Given the description of an element on the screen output the (x, y) to click on. 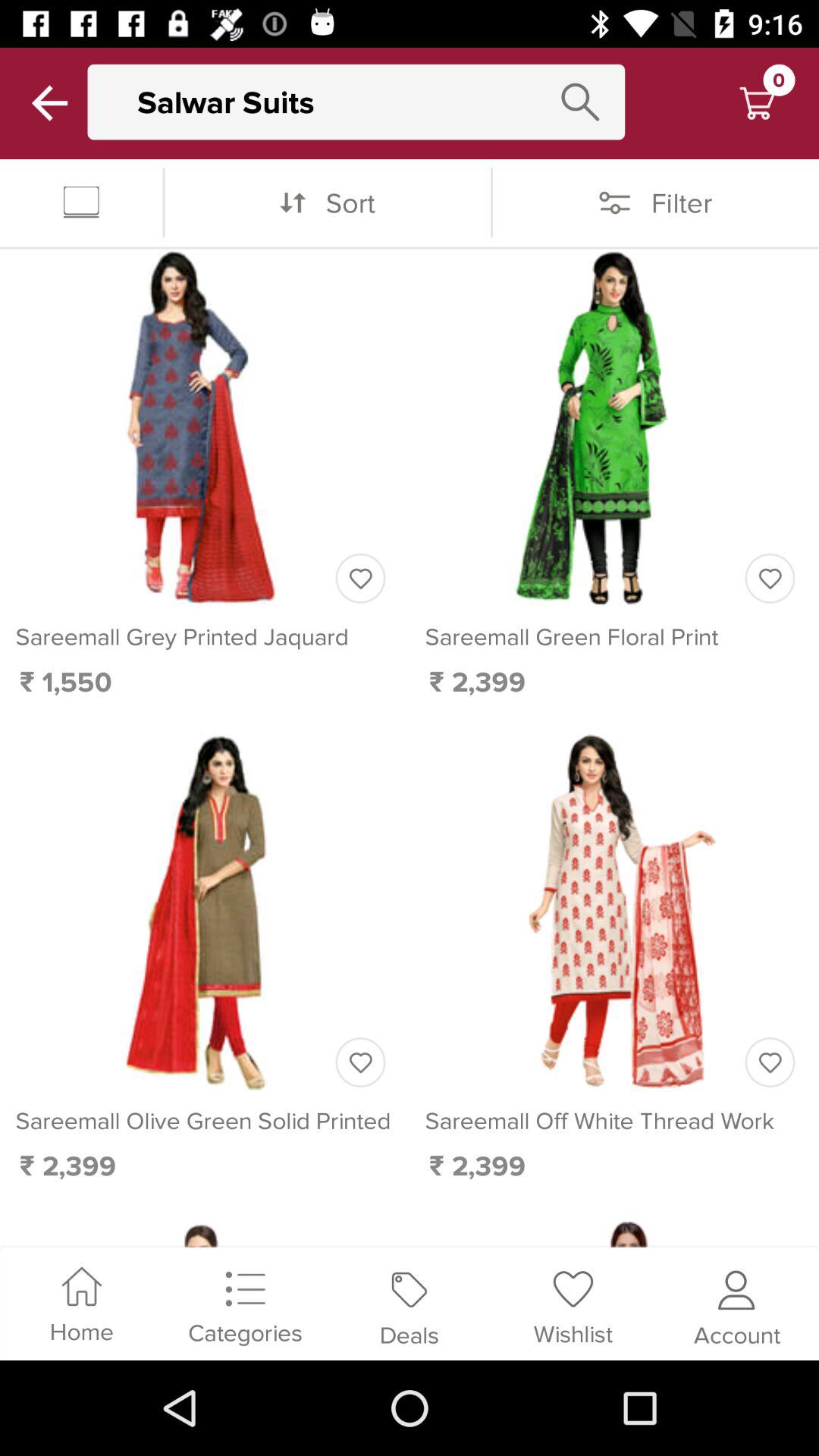
go back (49, 103)
